Given the description of an element on the screen output the (x, y) to click on. 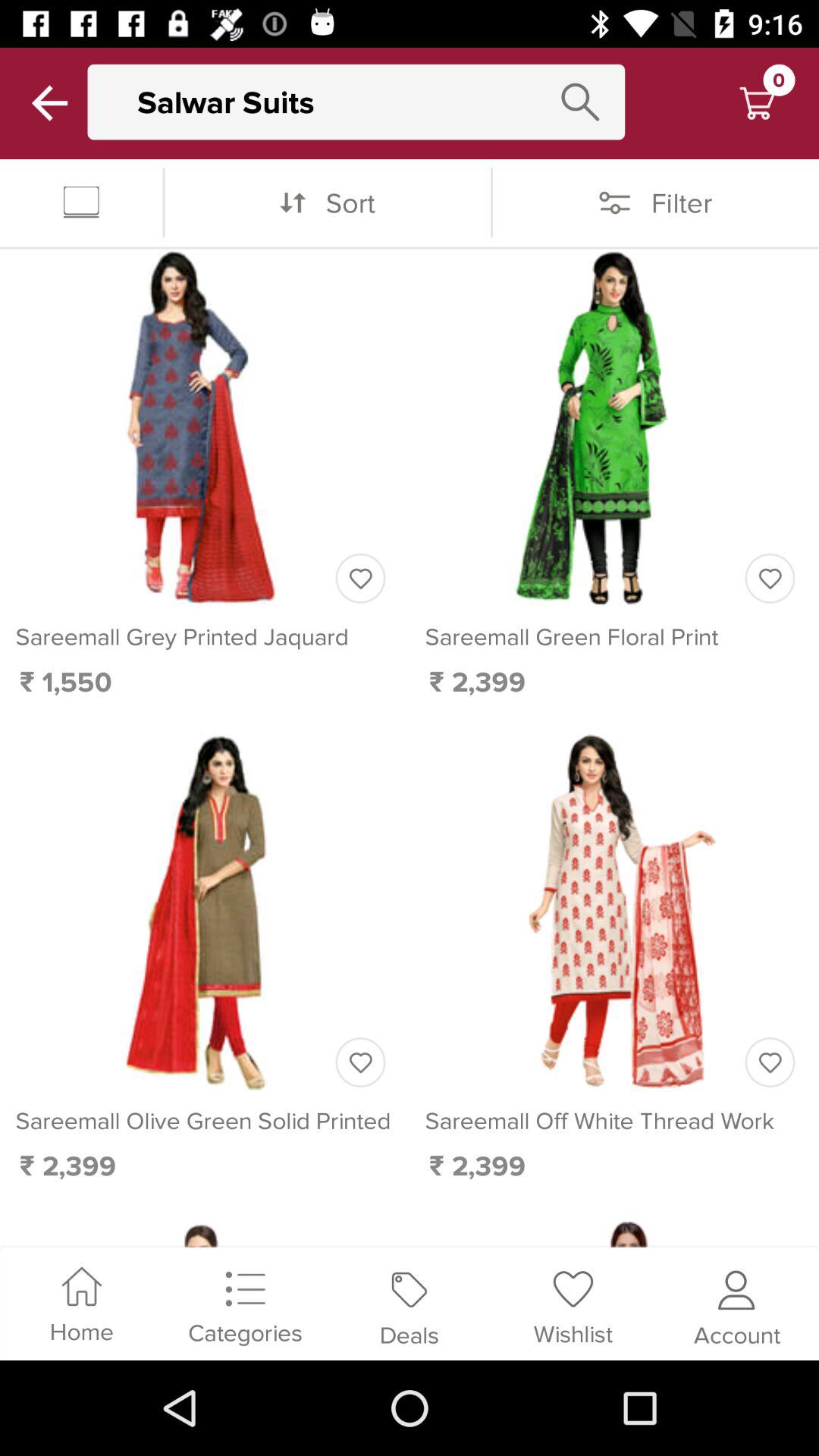
go back (49, 103)
